Given the description of an element on the screen output the (x, y) to click on. 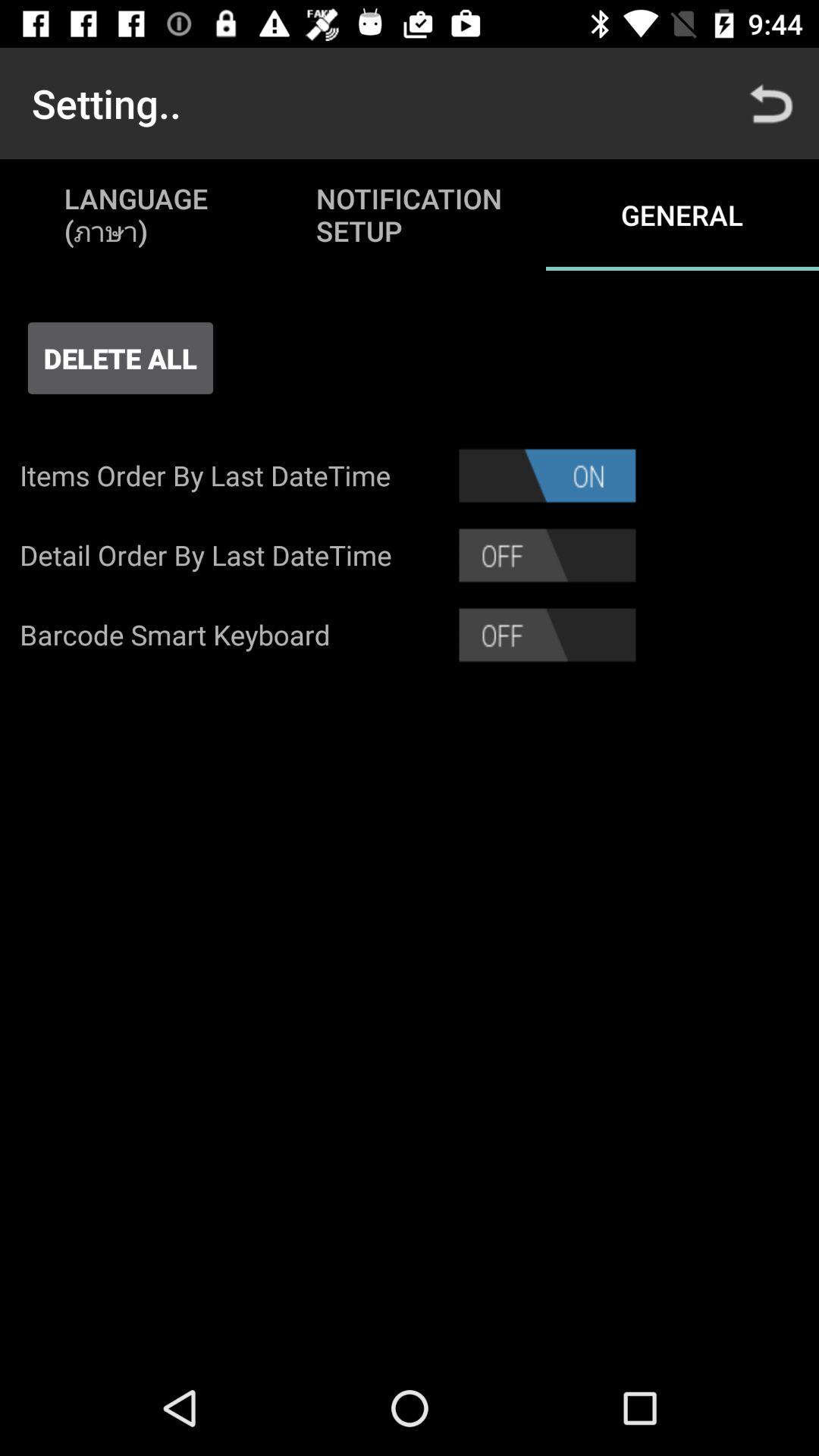
use a feature (547, 555)
